Given the description of an element on the screen output the (x, y) to click on. 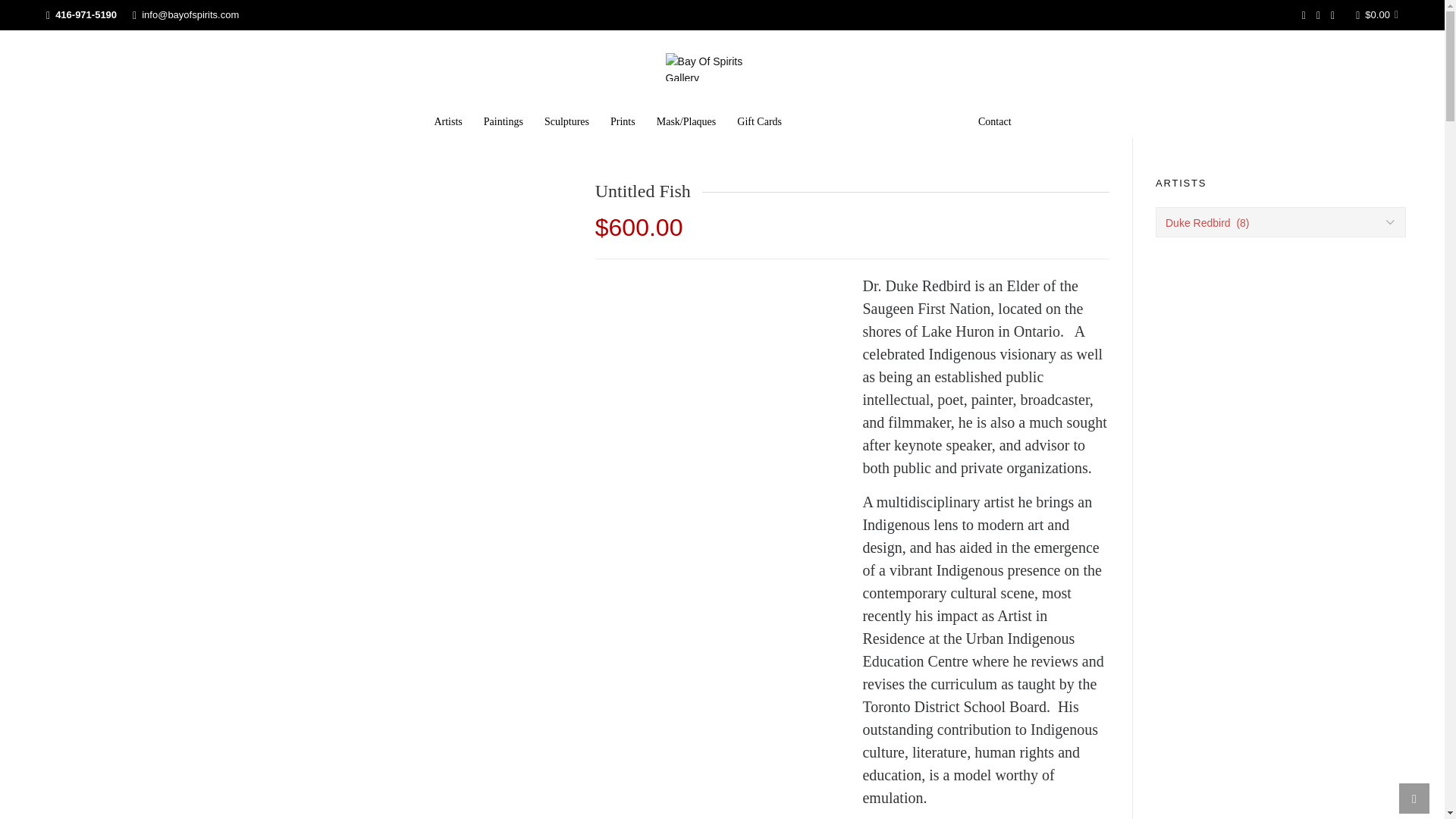
Artists (447, 120)
Contact (995, 120)
Paintings (503, 120)
Sculptures (566, 120)
Prints (622, 120)
Gift Cards (759, 120)
